Given the description of an element on the screen output the (x, y) to click on. 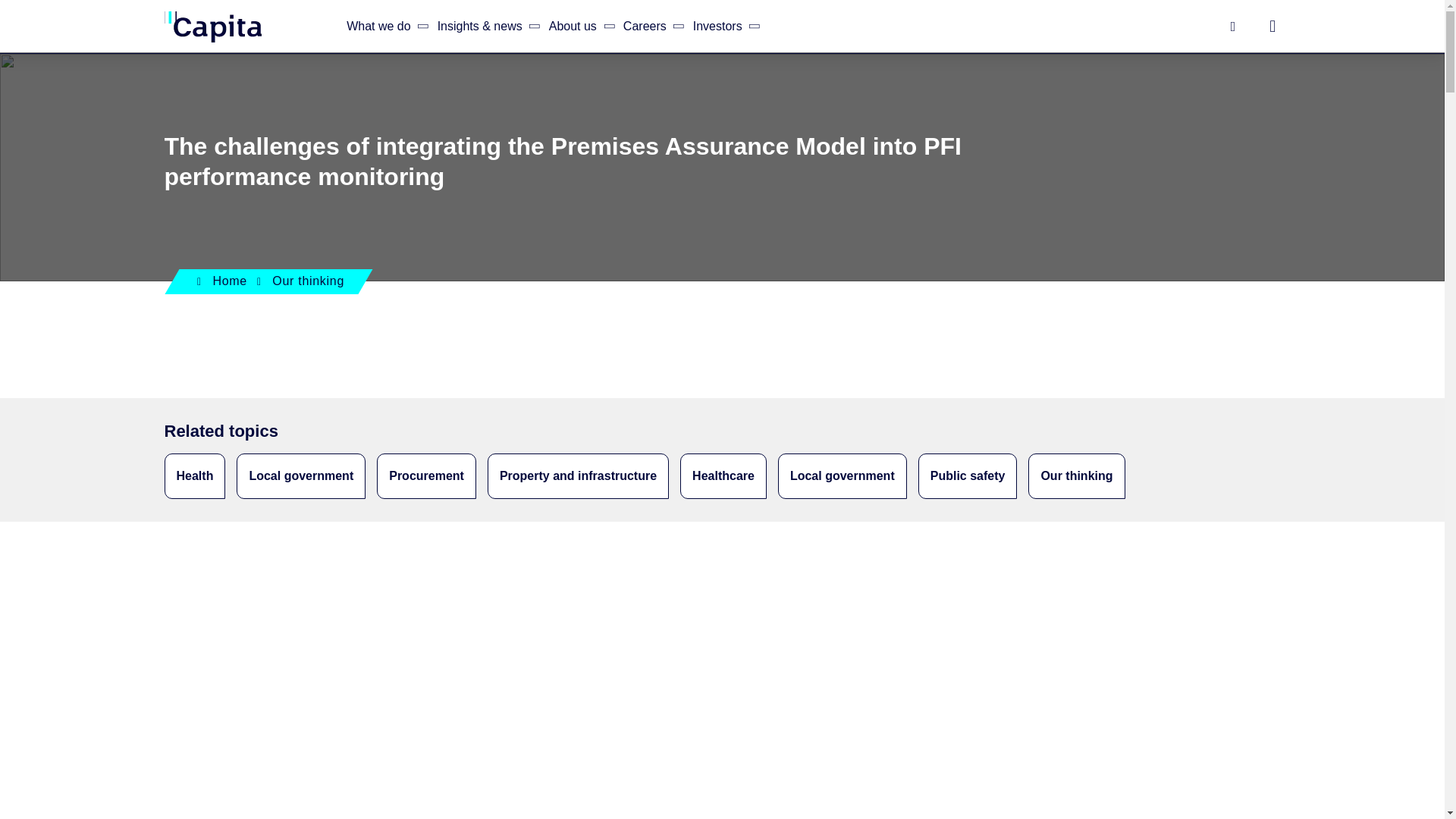
Logo (211, 25)
Home (211, 26)
What we do (384, 26)
